Given the description of an element on the screen output the (x, y) to click on. 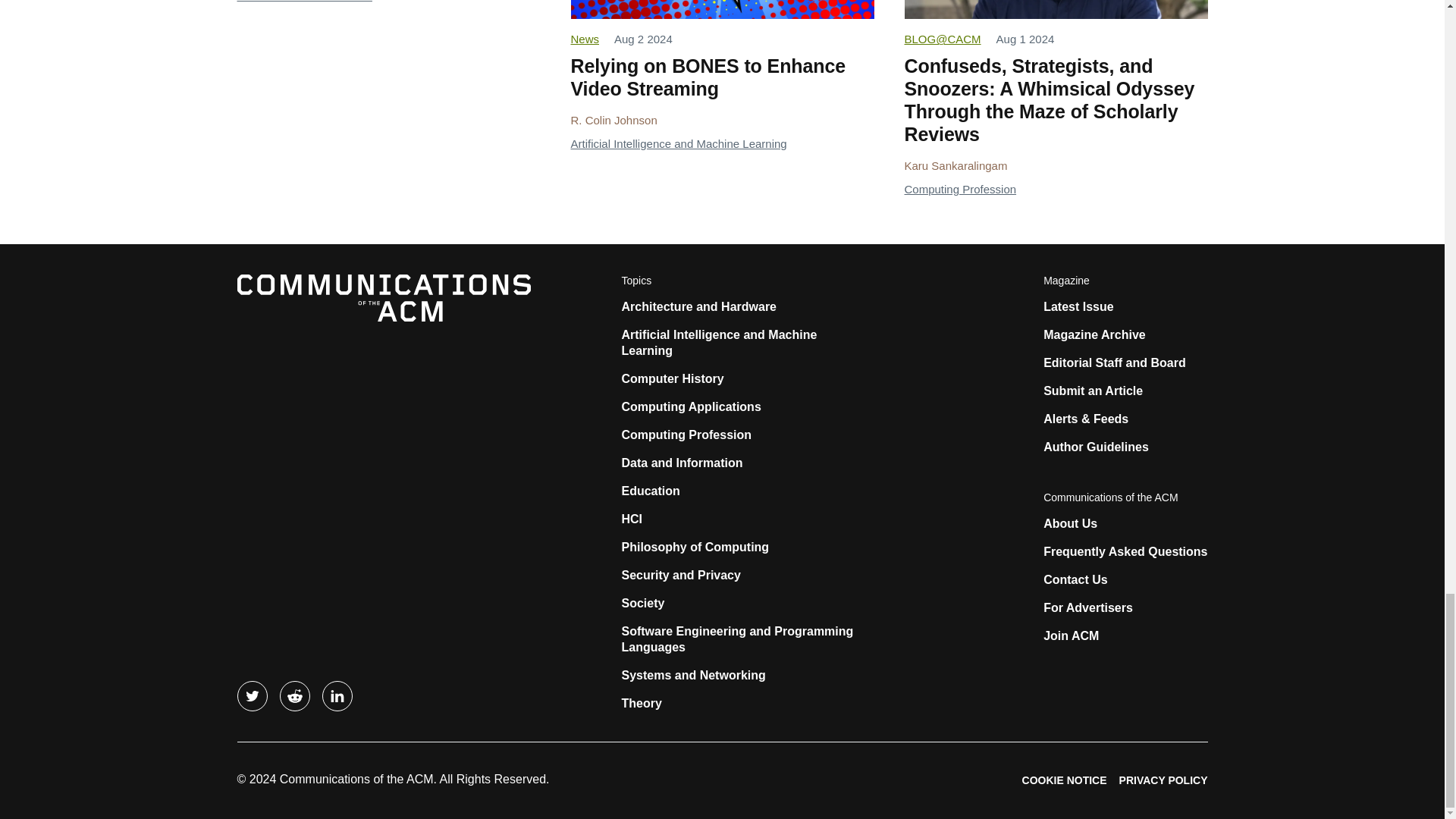
Posts by R. Colin Johnson (613, 119)
